Given the description of an element on the screen output the (x, y) to click on. 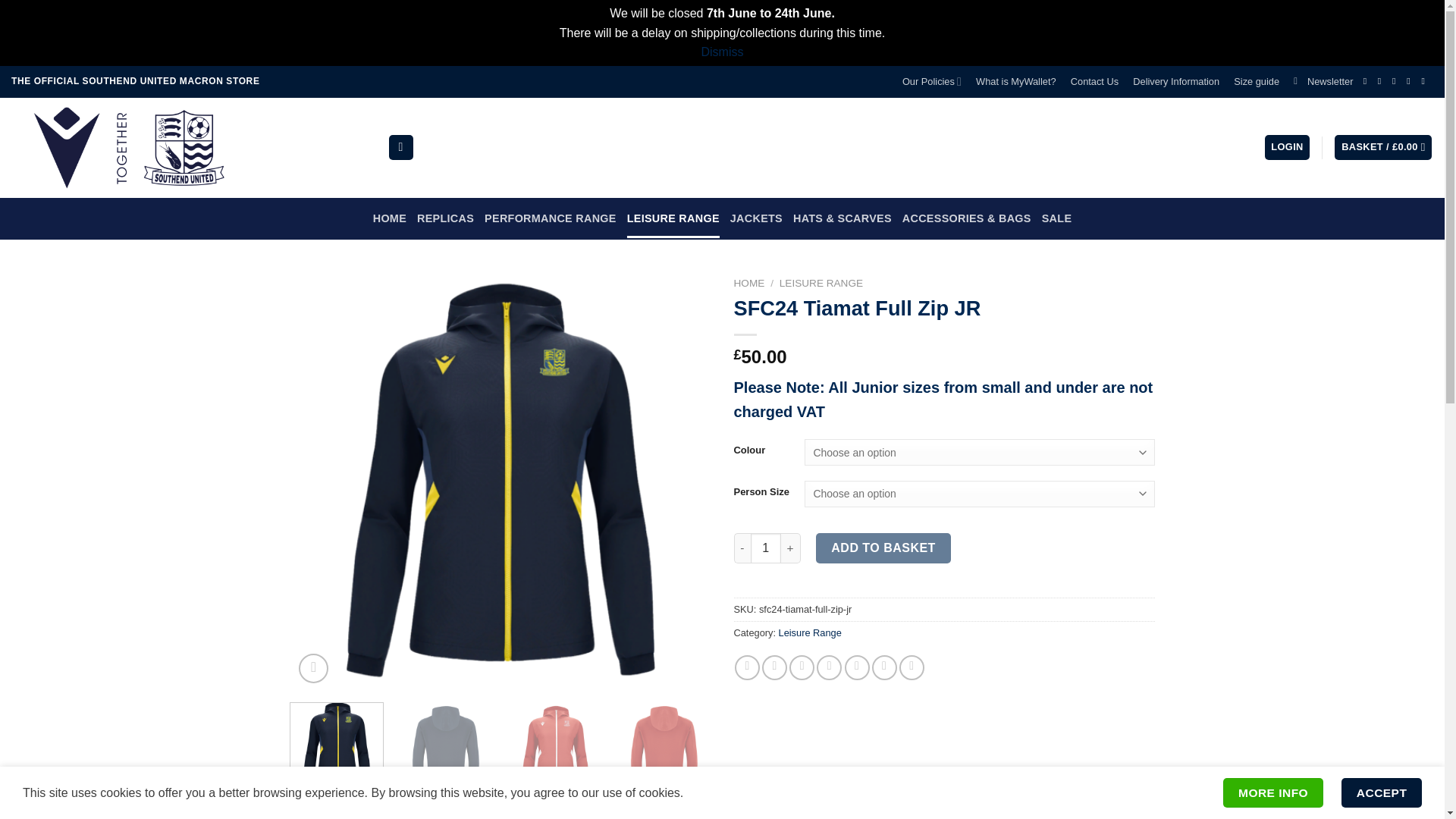
Newsletter (1323, 81)
Basket (1383, 147)
What is MyWallet? (1016, 81)
Our Policies (931, 81)
LOGIN (1287, 147)
JACKETS (756, 218)
REPLICAS (445, 218)
PERFORMANCE RANGE (549, 218)
LEISURE RANGE (673, 218)
Delivery Information (1176, 81)
Email to a Friend (801, 667)
Sign up for the Southend United Newsletter (1323, 81)
1 (765, 548)
Dismiss (721, 51)
